Given the description of an element on the screen output the (x, y) to click on. 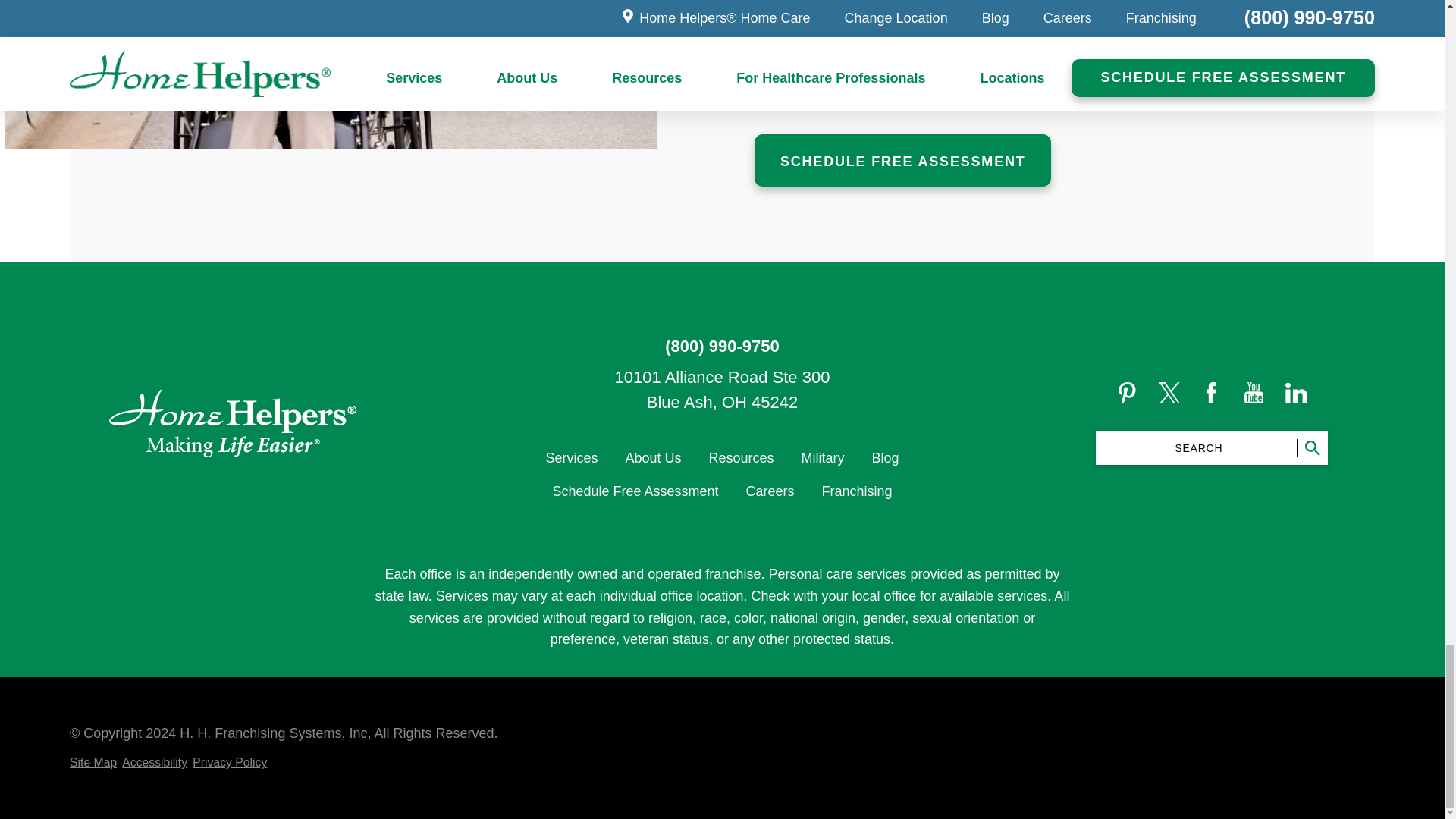
Pinterest (1127, 393)
Twitter (1169, 393)
Facebook (1211, 393)
LinkedIn (1296, 393)
YouTube (1254, 393)
